Given the description of an element on the screen output the (x, y) to click on. 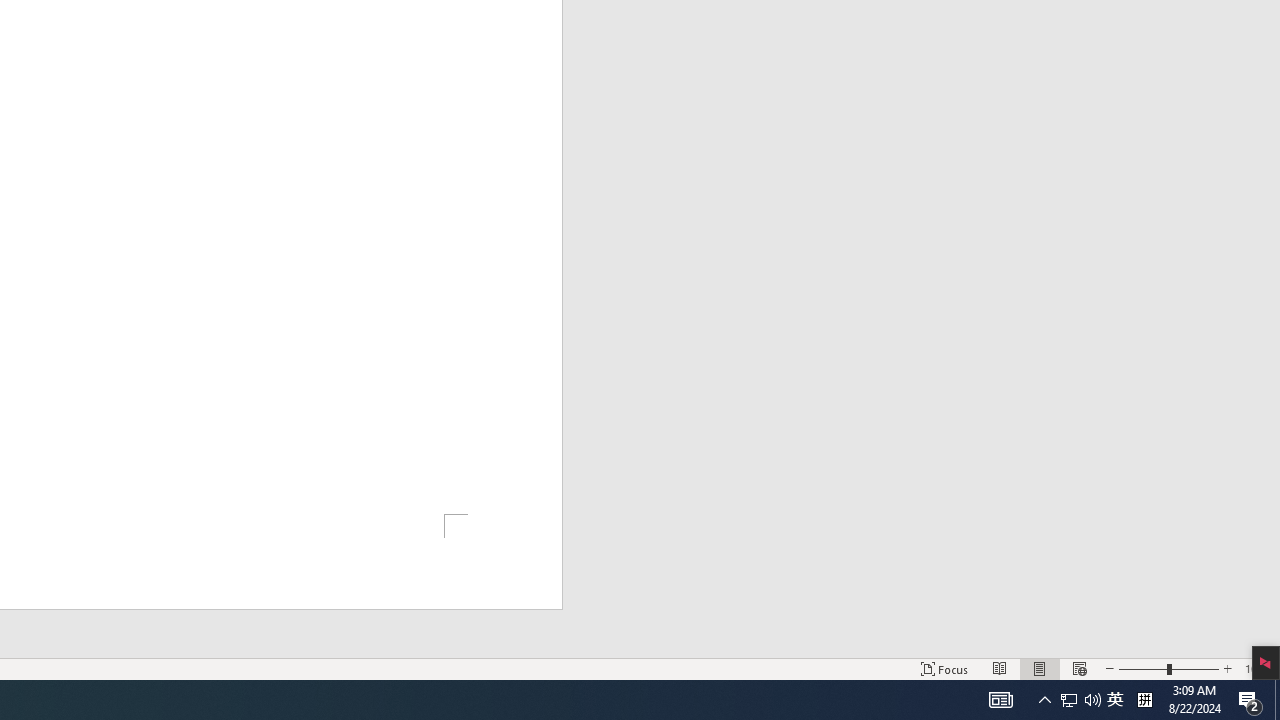
Zoom (1168, 668)
Zoom 100% (1258, 668)
